Given the description of an element on the screen output the (x, y) to click on. 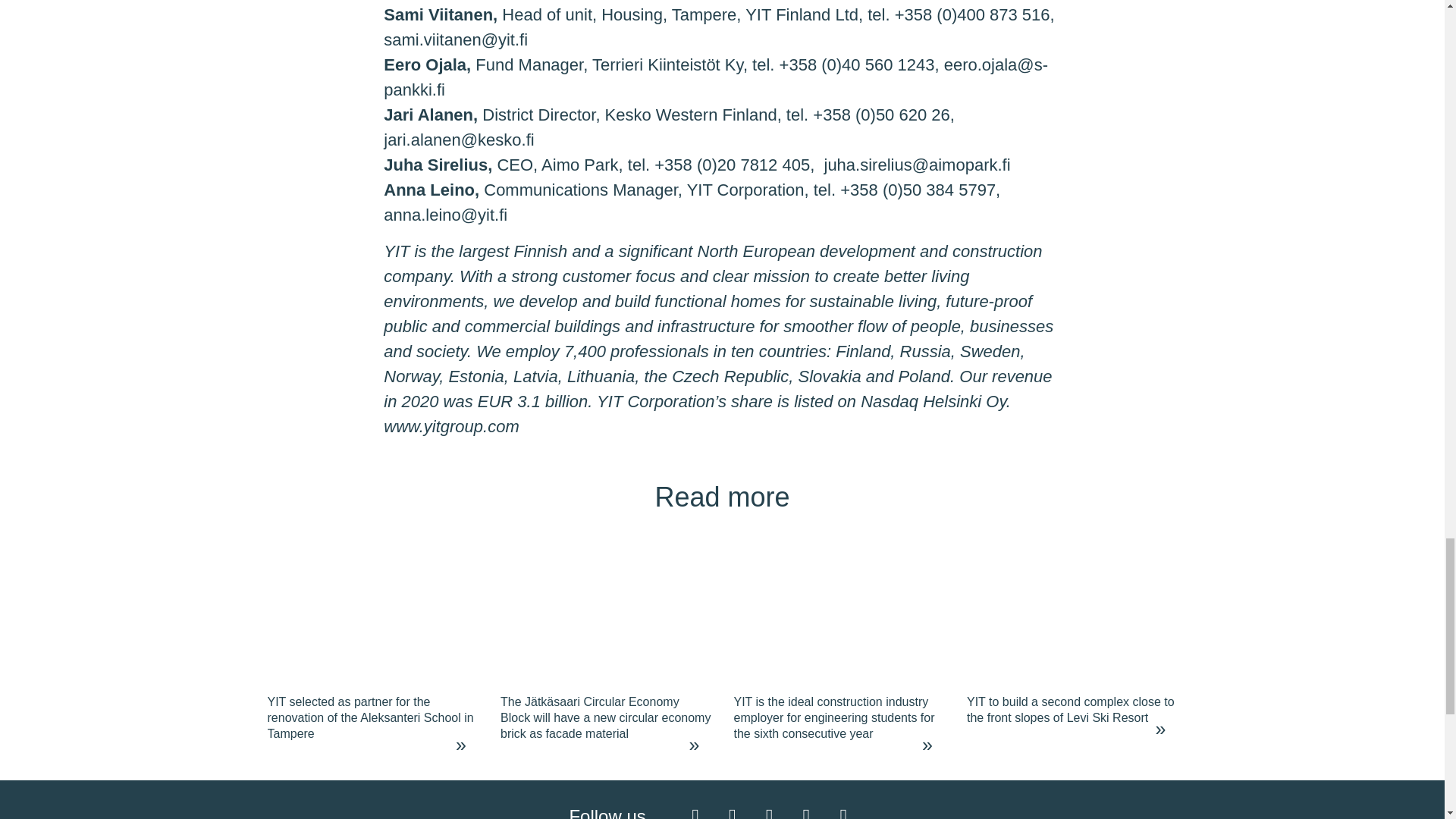
LinkedIn YIT Corporation (769, 811)
Facebook YIT Suomi (694, 811)
YouTube YIT Corporation (805, 811)
